Given the description of an element on the screen output the (x, y) to click on. 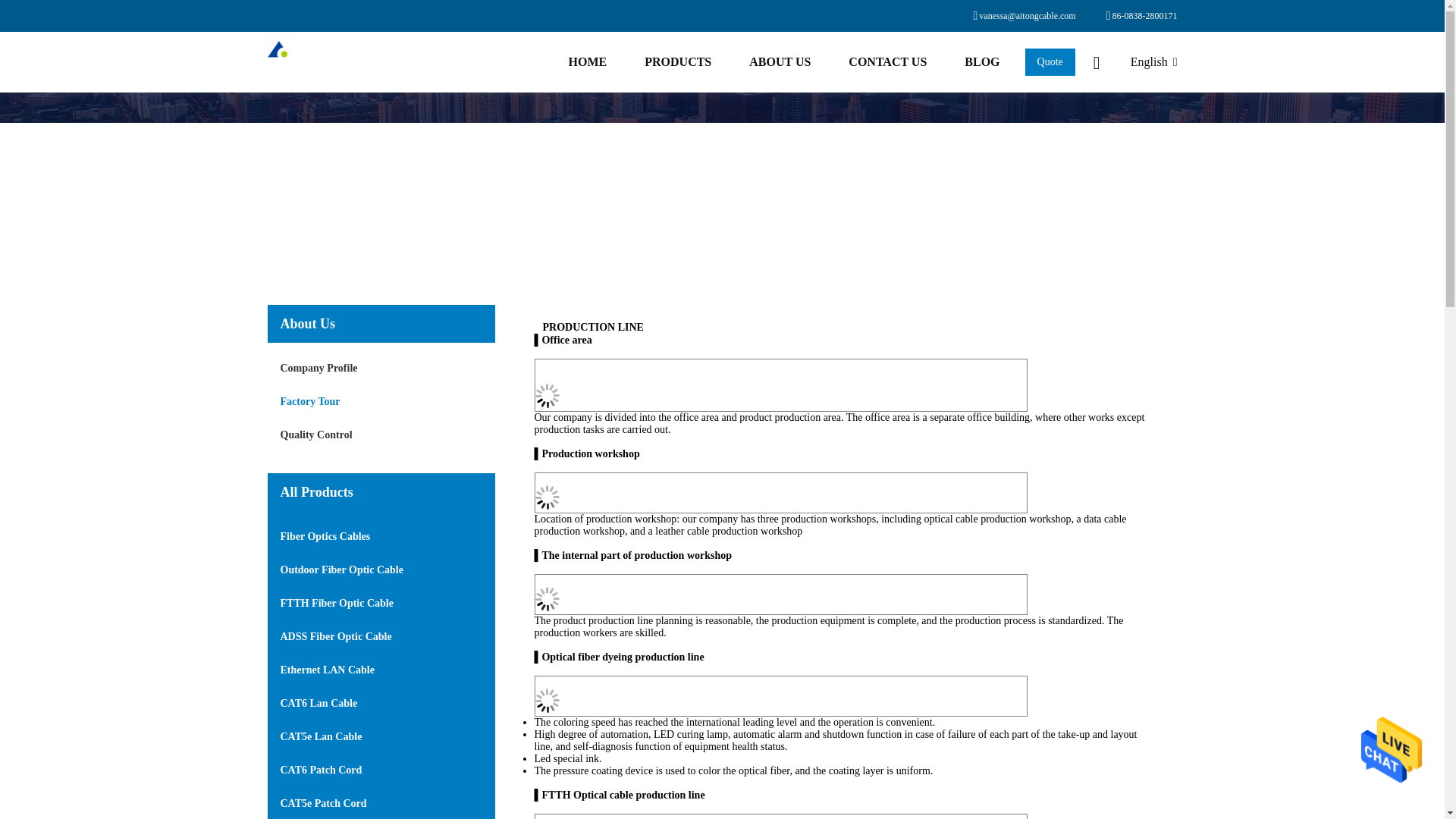
About Us (779, 61)
Quote (1050, 62)
ABOUT US (779, 61)
CONTACT US (887, 61)
PRODUCTS (678, 61)
